Given the description of an element on the screen output the (x, y) to click on. 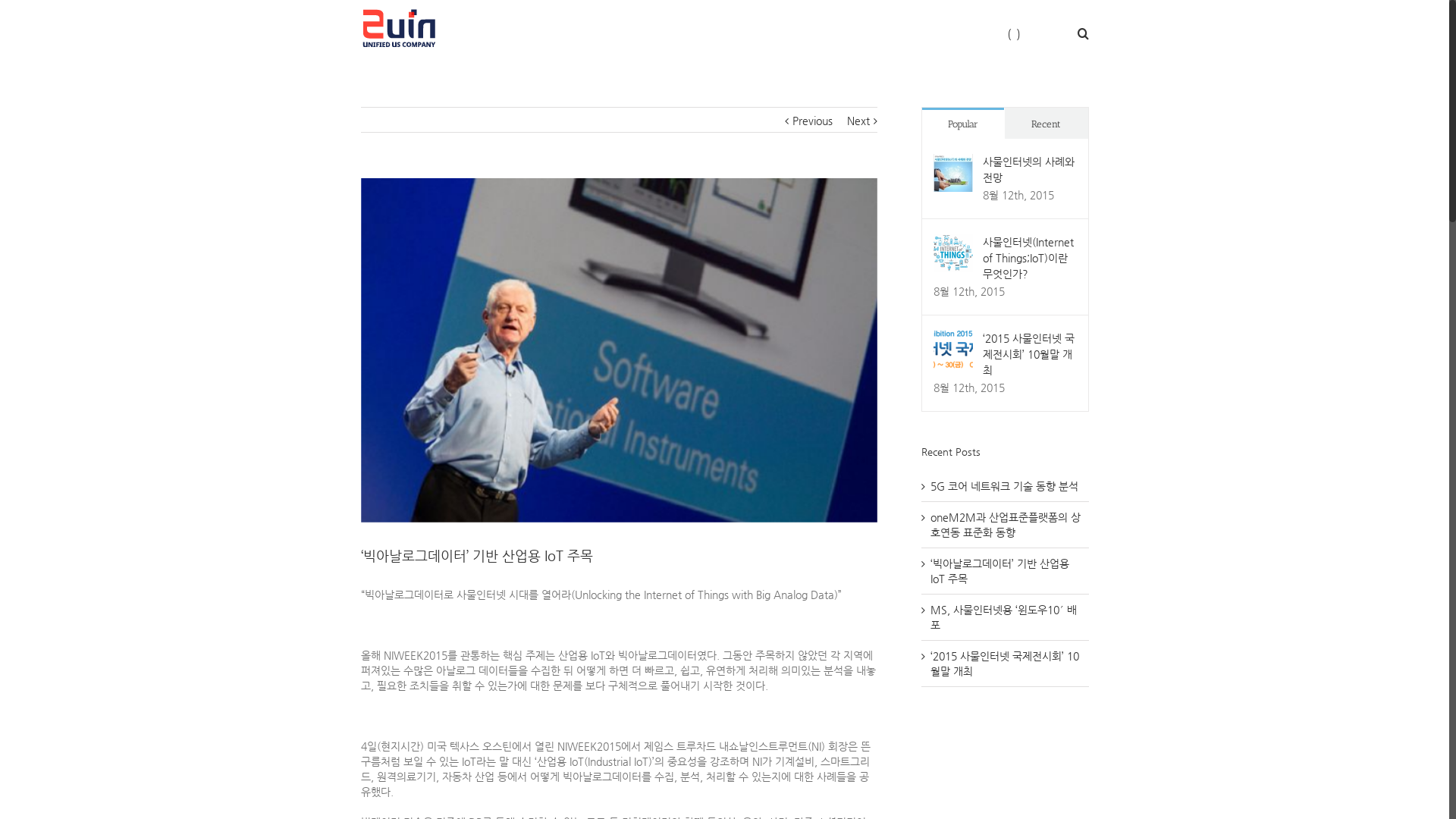
Popular Element type: text (963, 122)
Recent Element type: text (1045, 122)
Previous Element type: text (812, 120)
Next Element type: text (858, 120)
